Given the description of an element on the screen output the (x, y) to click on. 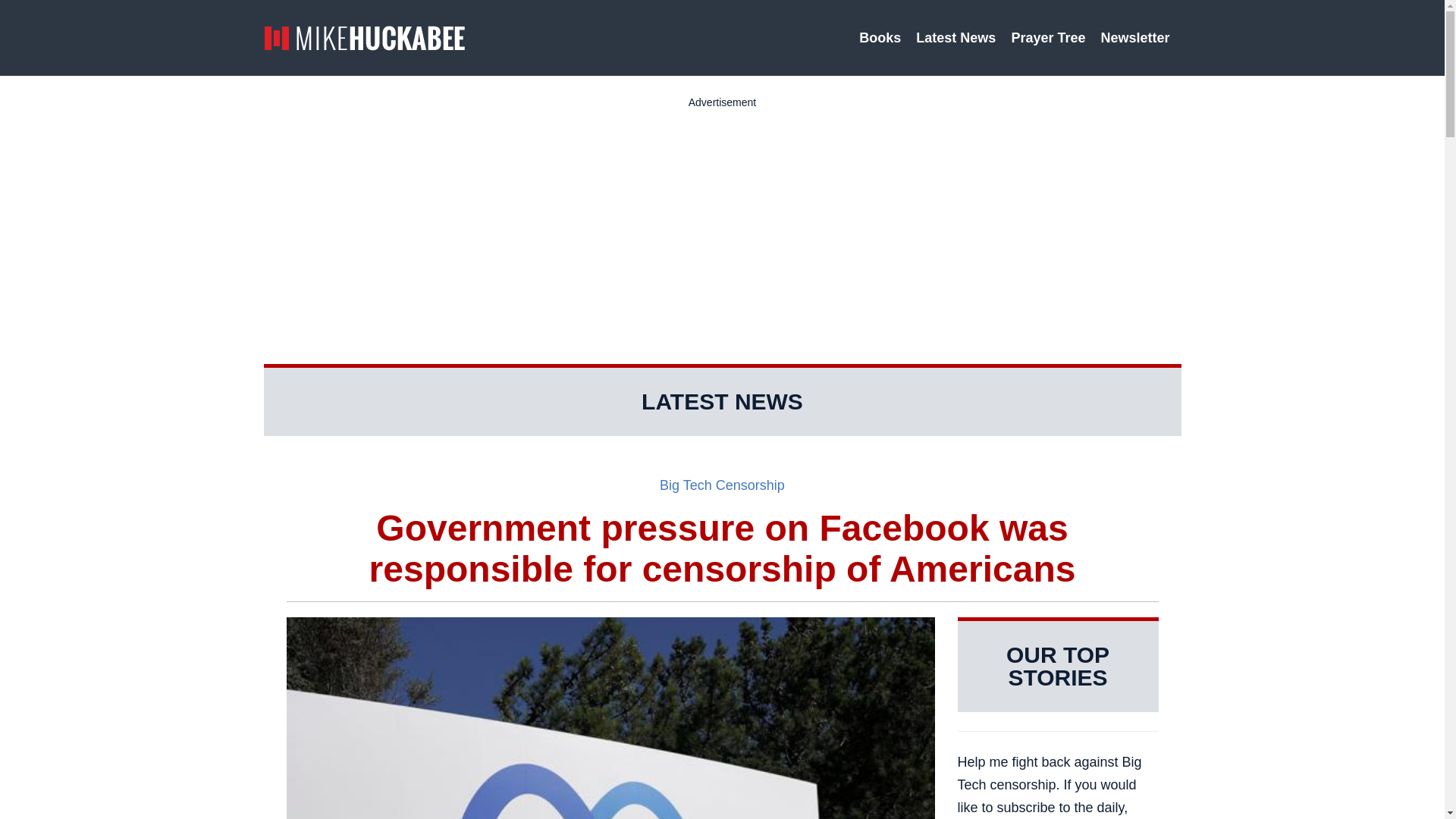
Newsletter (1136, 38)
Latest News (955, 38)
Books (879, 38)
Big Tech Censorship (721, 485)
Prayer Tree (1048, 38)
